Given the description of an element on the screen output the (x, y) to click on. 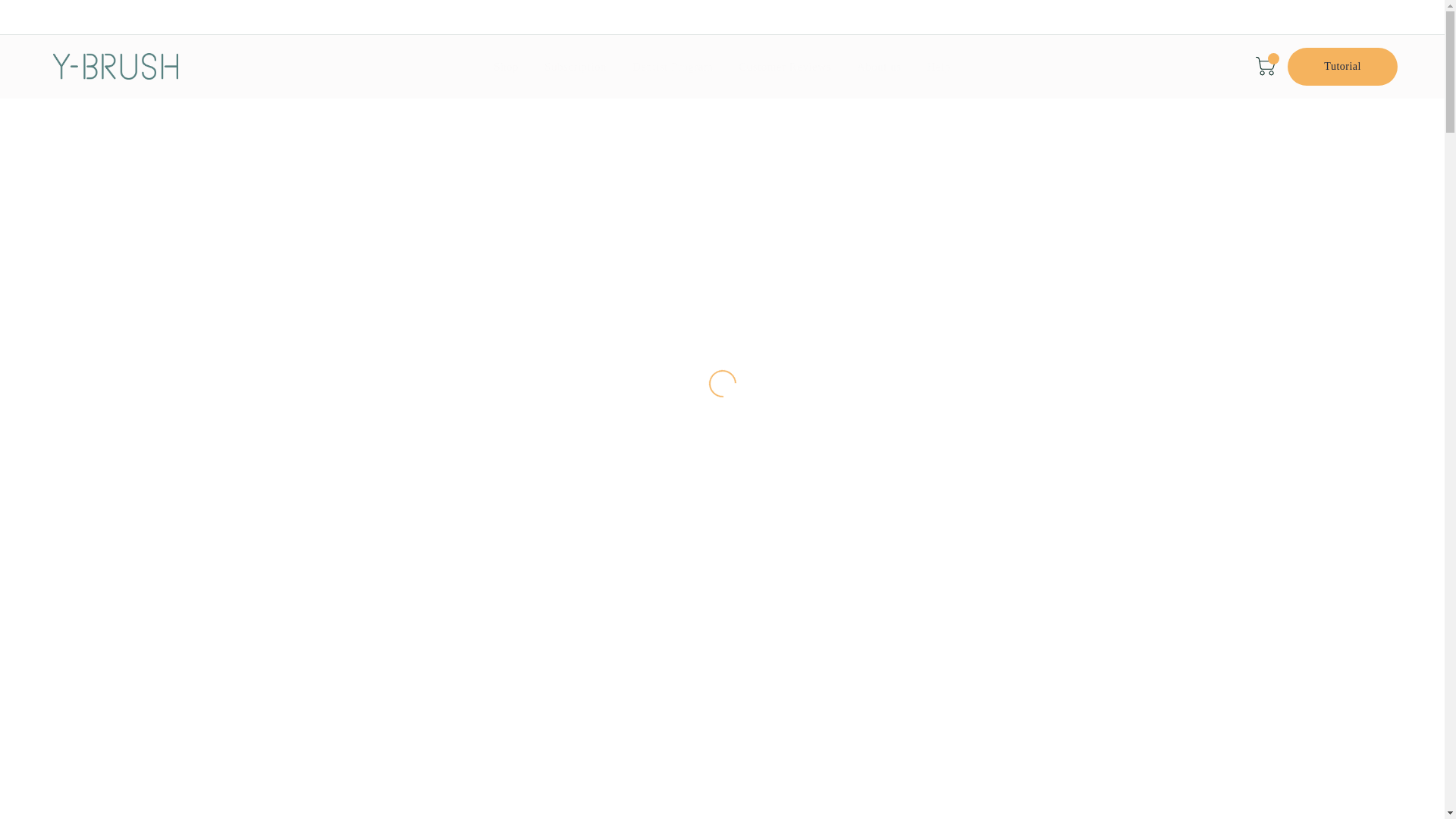
Subscription (574, 66)
Shop (505, 66)
Dentist Program (672, 66)
Help (938, 66)
About us (878, 66)
Tutorial (1342, 66)
oral hygiene (736, 601)
Customer Reviews (784, 66)
